Given the description of an element on the screen output the (x, y) to click on. 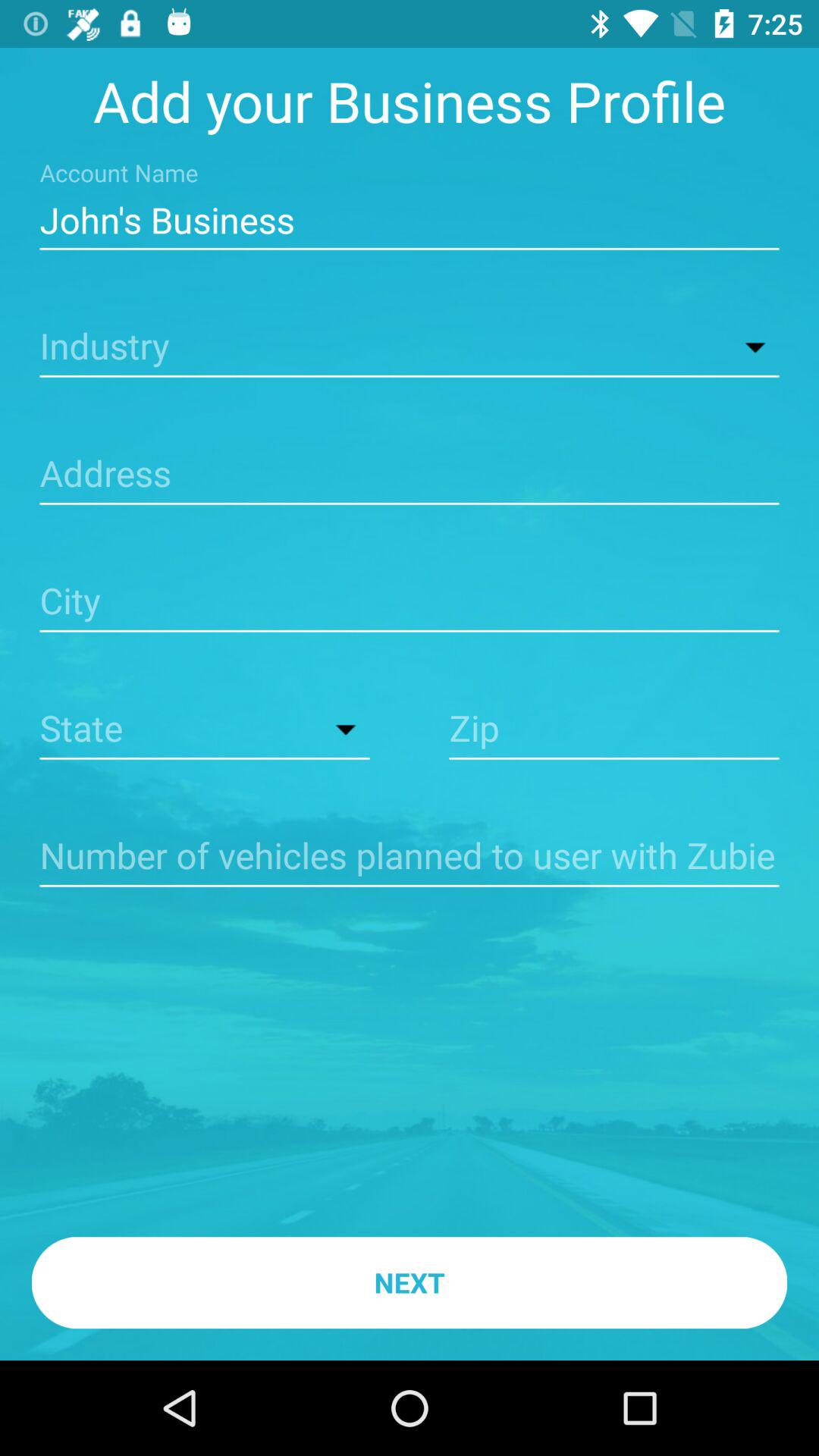
open drop down (409, 348)
